Given the description of an element on the screen output the (x, y) to click on. 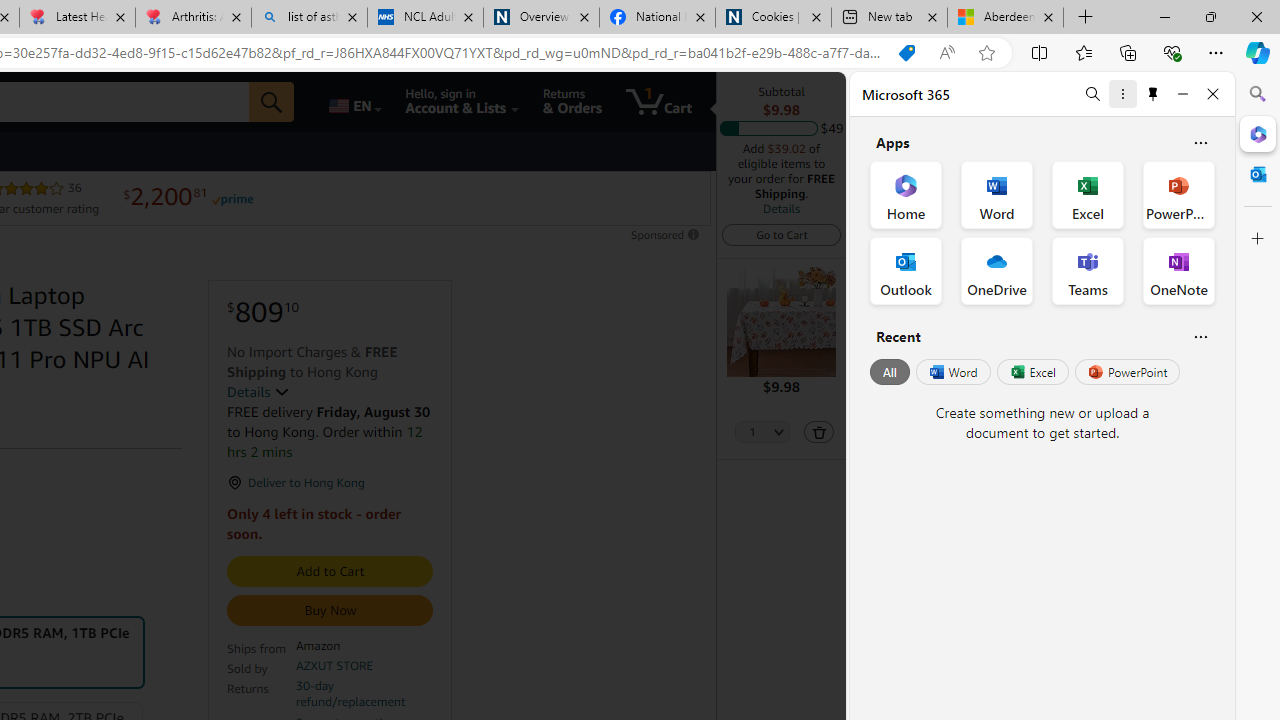
Close Customize pane (1258, 239)
Word (952, 372)
